Given the description of an element on the screen output the (x, y) to click on. 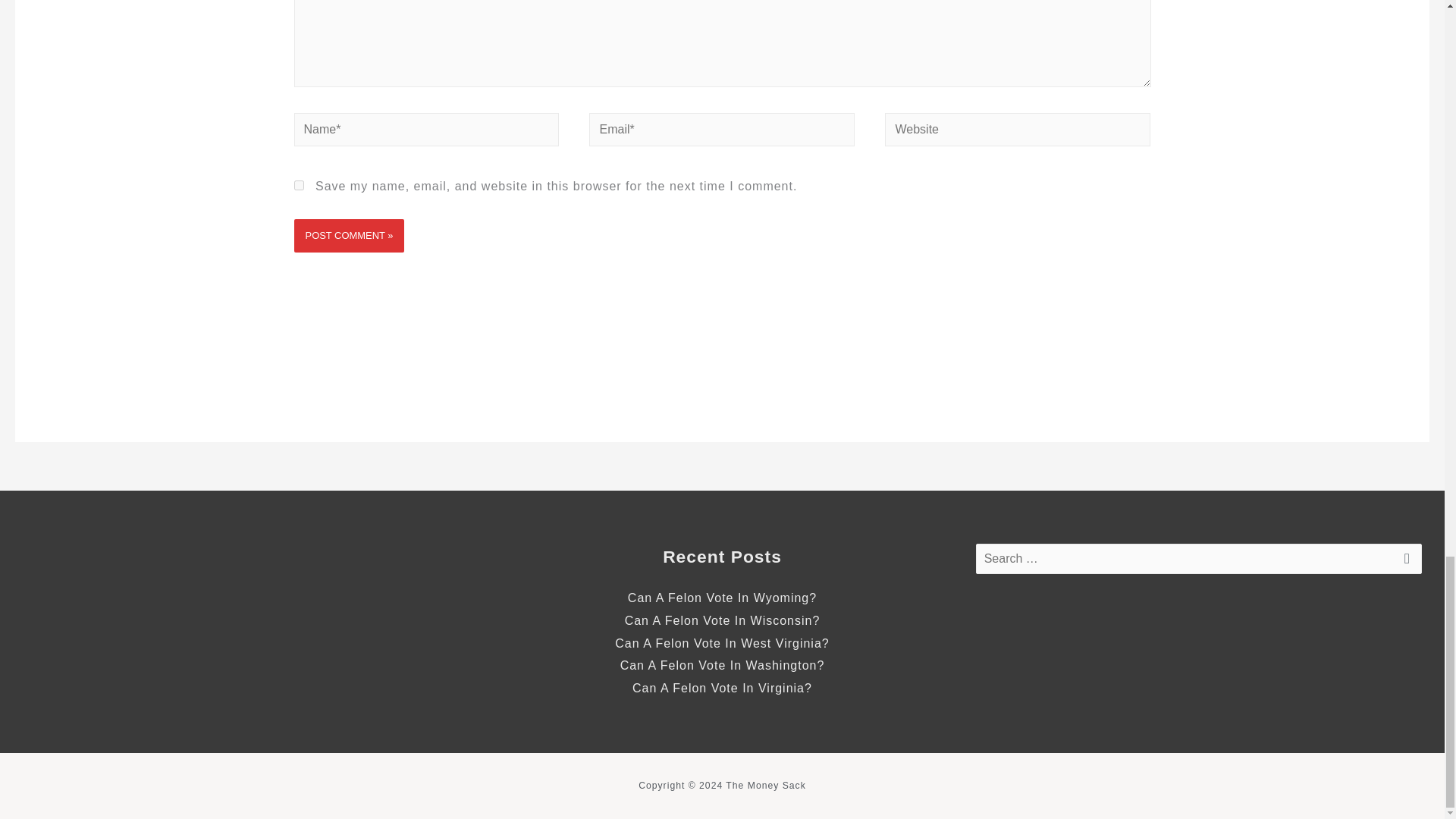
Search (1404, 562)
Can A Felon Vote In Wyoming? (721, 597)
Can A Felon Vote In Wisconsin? (722, 620)
Can A Felon Vote In Virginia? (721, 687)
Can A Felon Vote In West Virginia? (721, 643)
Search (1404, 562)
Can A Felon Vote In Washington? (722, 665)
Search (1404, 562)
yes (299, 185)
